Given the description of an element on the screen output the (x, y) to click on. 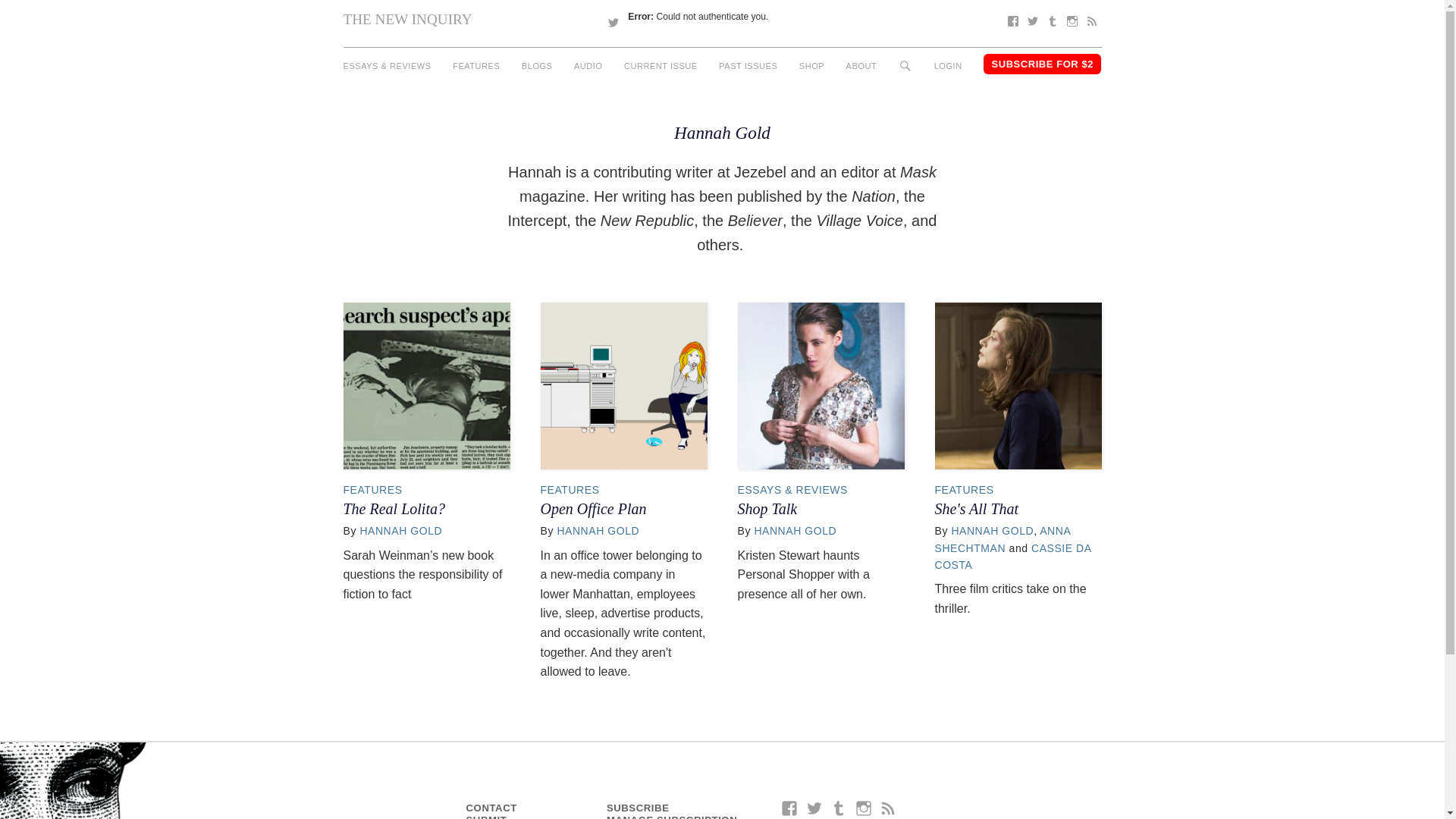
She's All That (975, 508)
FEATURES (963, 490)
Tumblr (1051, 21)
FEATURES (569, 490)
Posts by Hannah Gold (400, 530)
The Real Lolita? (393, 508)
Posts by Hannah Gold (597, 530)
Facebook (1012, 21)
SHOP (811, 66)
Posts by Cassie Da Costa (1012, 556)
